Given the description of an element on the screen output the (x, y) to click on. 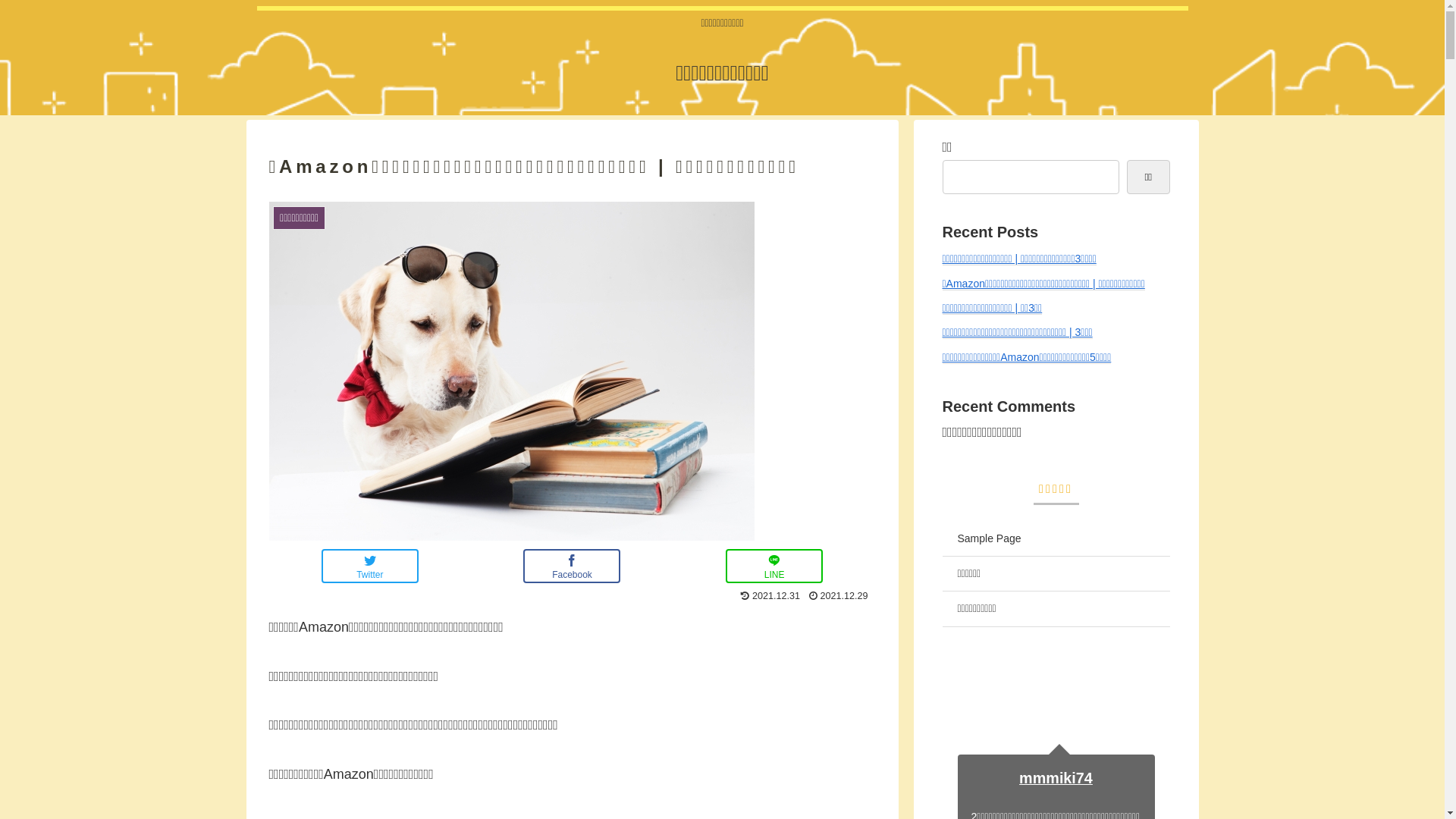
Sample Page Element type: text (1055, 538)
LINE Element type: text (773, 566)
mmmiki74 Element type: text (1055, 777)
Facebook Element type: text (571, 566)
Twitter Element type: text (369, 566)
